Given the description of an element on the screen output the (x, y) to click on. 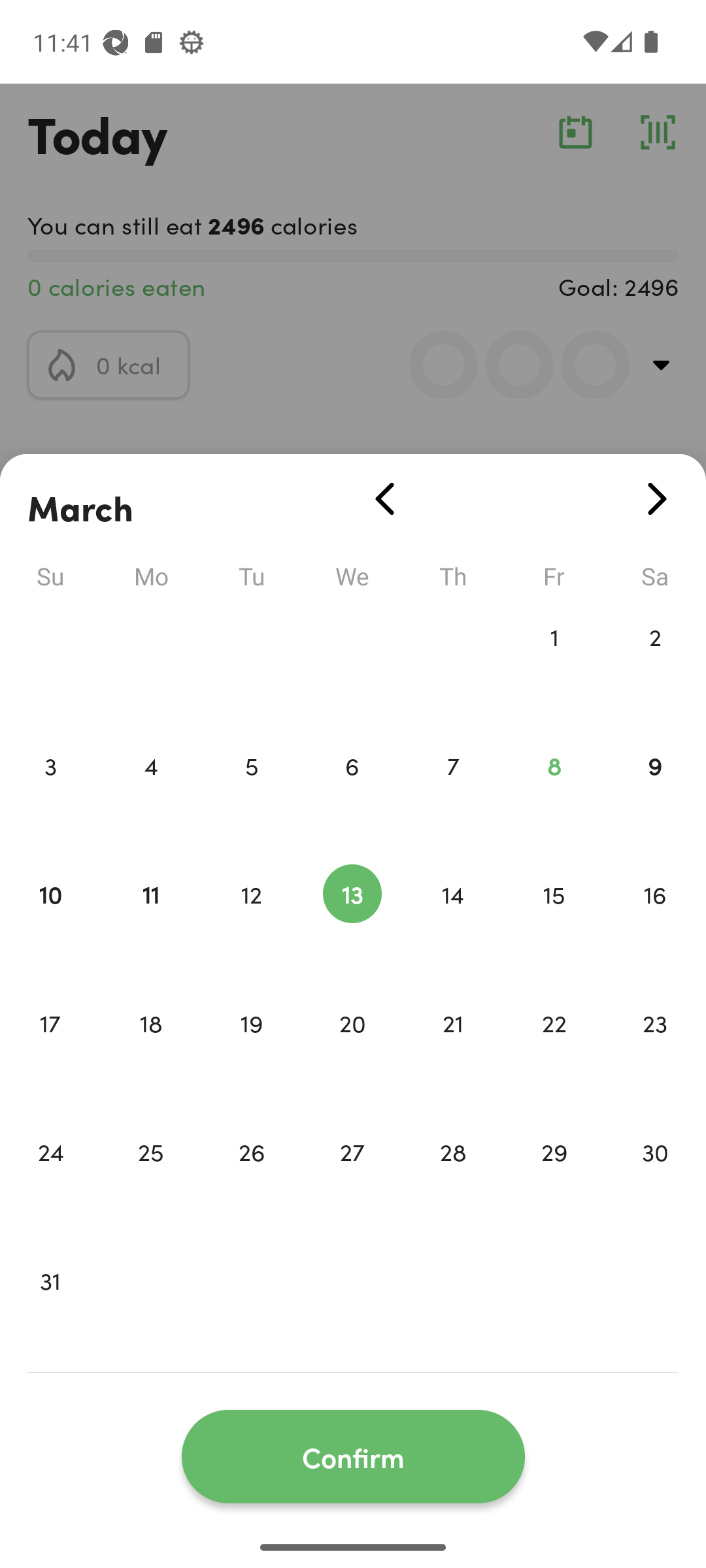
1 (554, 663)
2 (655, 663)
3 (50, 793)
4 (150, 793)
5 (251, 793)
6 (352, 793)
7 (453, 793)
8 (554, 793)
9 (655, 793)
10 (50, 921)
11 (150, 921)
12 (251, 921)
13 (352, 921)
14 (453, 921)
15 (554, 921)
16 (655, 921)
17 (50, 1050)
18 (150, 1050)
19 (251, 1050)
20 (352, 1050)
21 (453, 1050)
22 (554, 1050)
23 (655, 1050)
24 (50, 1178)
25 (150, 1178)
26 (251, 1178)
27 (352, 1178)
28 (453, 1178)
29 (554, 1178)
30 (655, 1178)
31 (50, 1307)
Confirm (353, 1456)
